Given the description of an element on the screen output the (x, y) to click on. 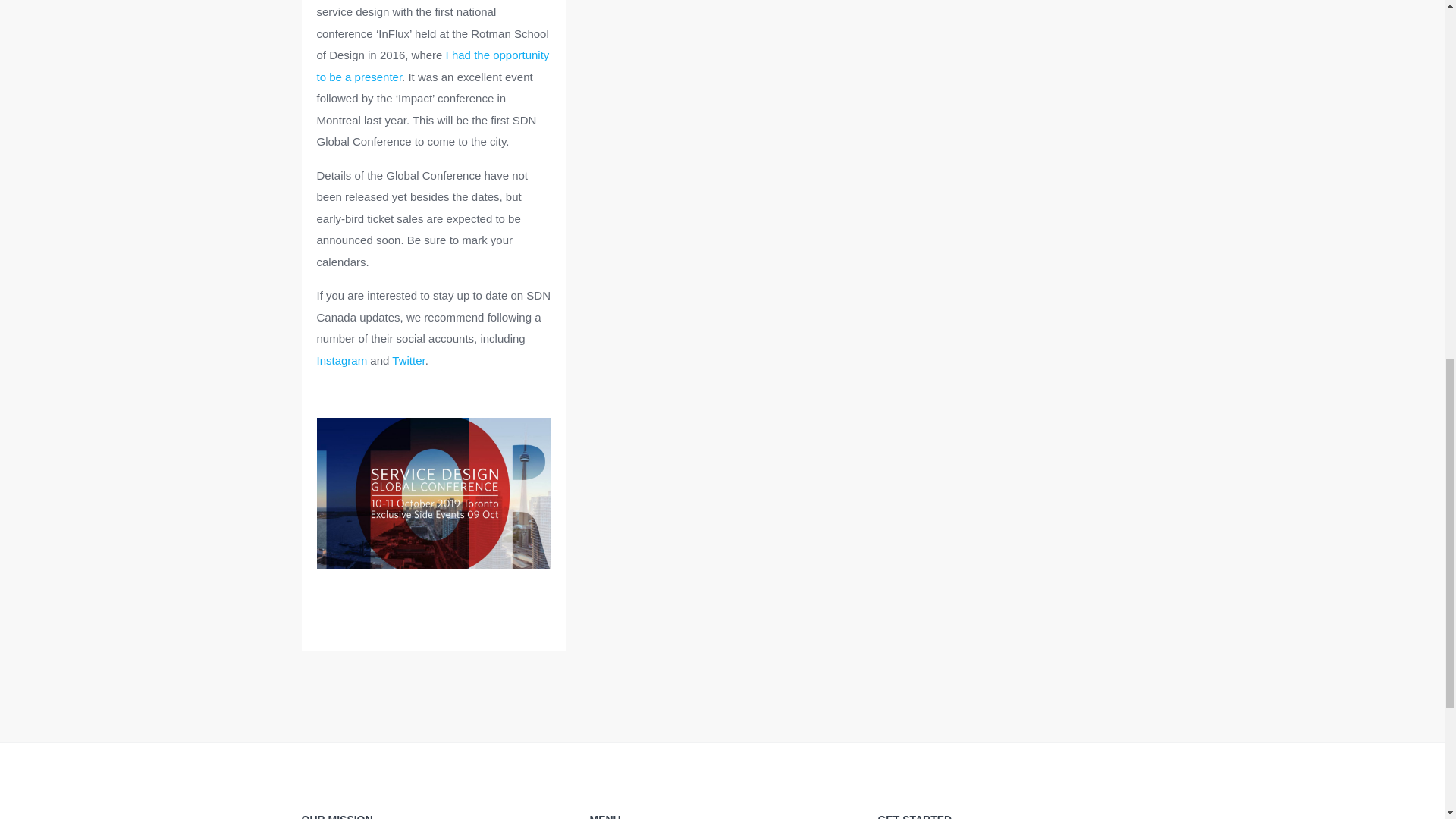
I had the opportunity to be a presenter (433, 65)
Instagram (342, 359)
Twitter (408, 359)
